Given the description of an element on the screen output the (x, y) to click on. 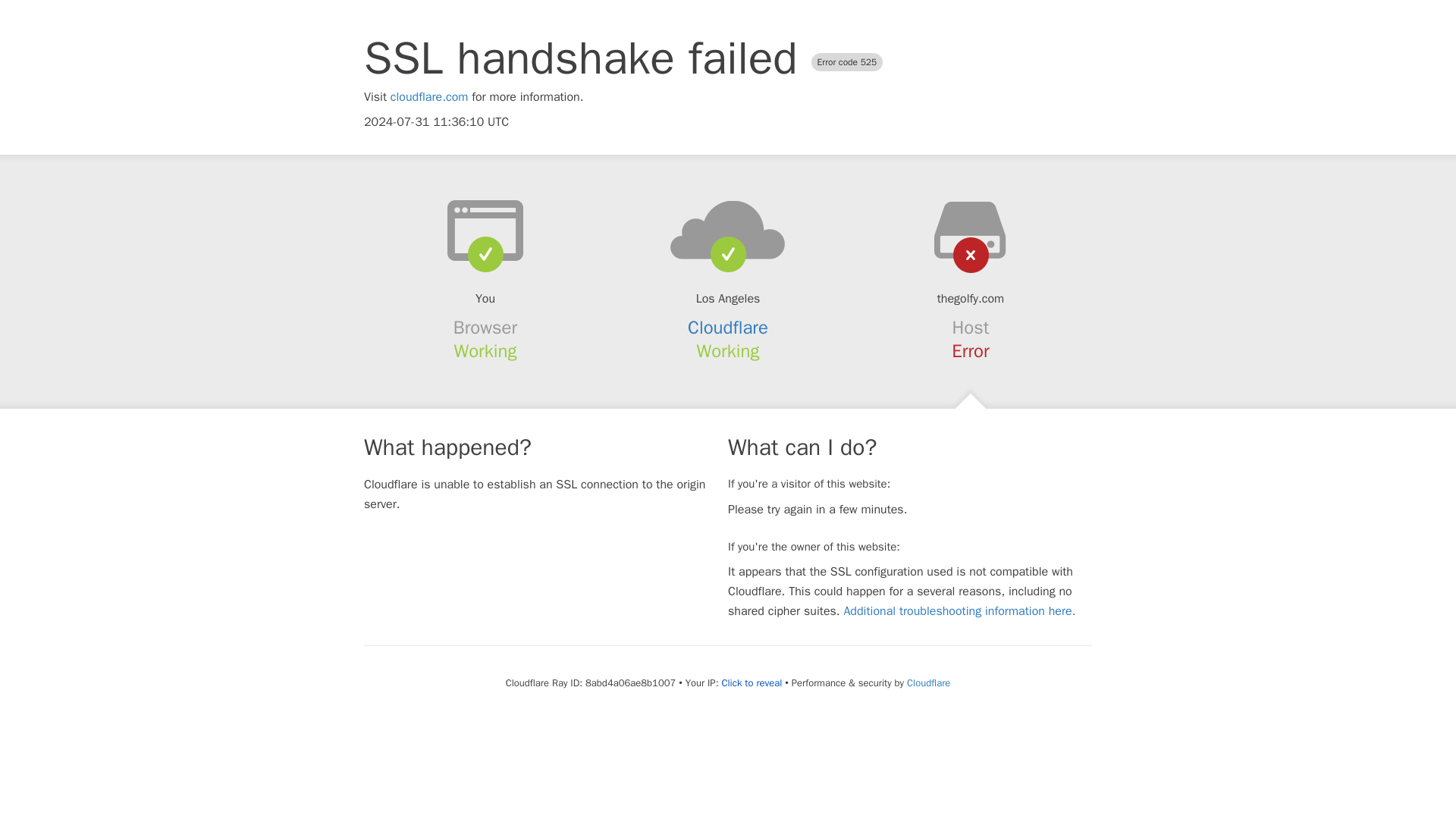
Cloudflare (727, 327)
Additional troubleshooting information here. (959, 611)
Cloudflare (928, 682)
cloudflare.com (429, 96)
Click to reveal (750, 683)
